Given the description of an element on the screen output the (x, y) to click on. 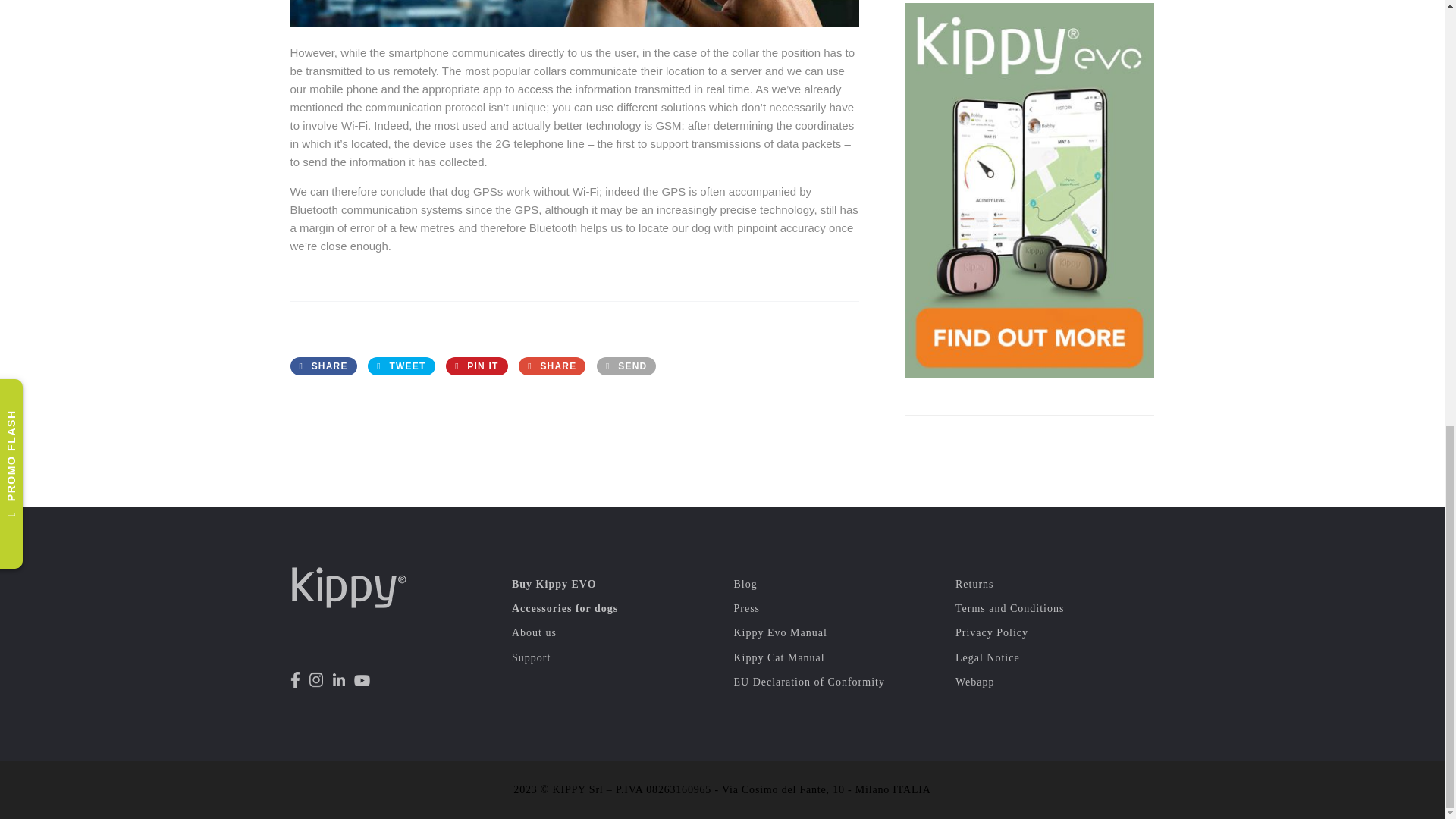
Accessories for dogs (564, 608)
Facebook (322, 366)
SHARE (322, 366)
SHARE (551, 366)
Support (531, 657)
Pinterest (475, 366)
About us (534, 632)
TWEET (400, 366)
Buy Kippy EVO (554, 583)
PIN IT (475, 366)
